Given the description of an element on the screen output the (x, y) to click on. 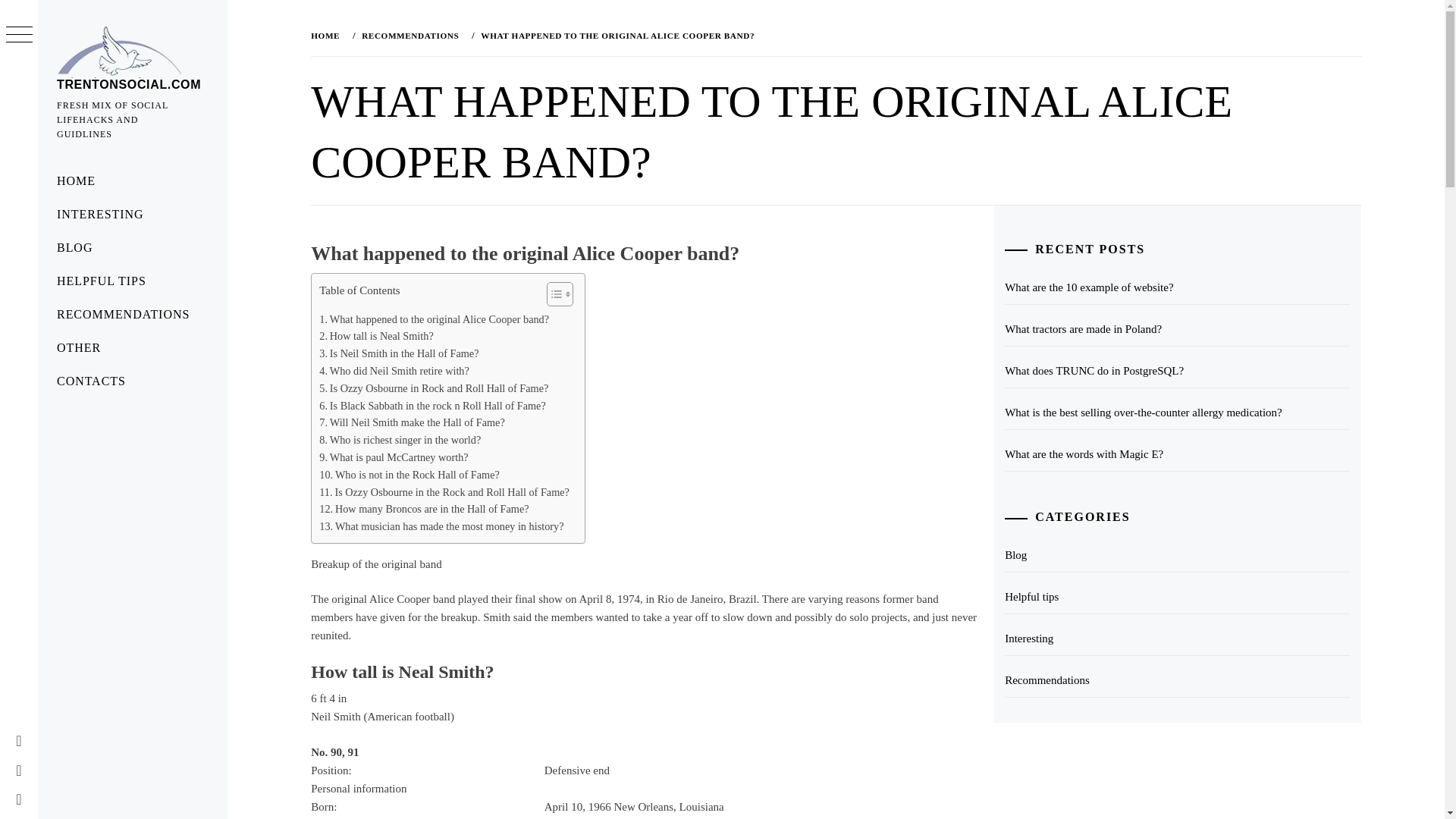
Is Ozzy Osbourne in the Rock and Roll Hall of Fame? (443, 492)
What is paul McCartney worth? (392, 457)
How tall is Neal Smith? (375, 335)
Is Ozzy Osbourne in Rock and Roll Hall of Fame? (433, 388)
CONTACTS (132, 381)
Is Ozzy Osbourne in the Rock and Roll Hall of Fame? (443, 492)
Is Neil Smith in the Hall of Fame? (398, 353)
Who is not in the Rock Hall of Fame? (408, 475)
OTHER (132, 347)
Who is richest singer in the world? (399, 439)
